Given the description of an element on the screen output the (x, y) to click on. 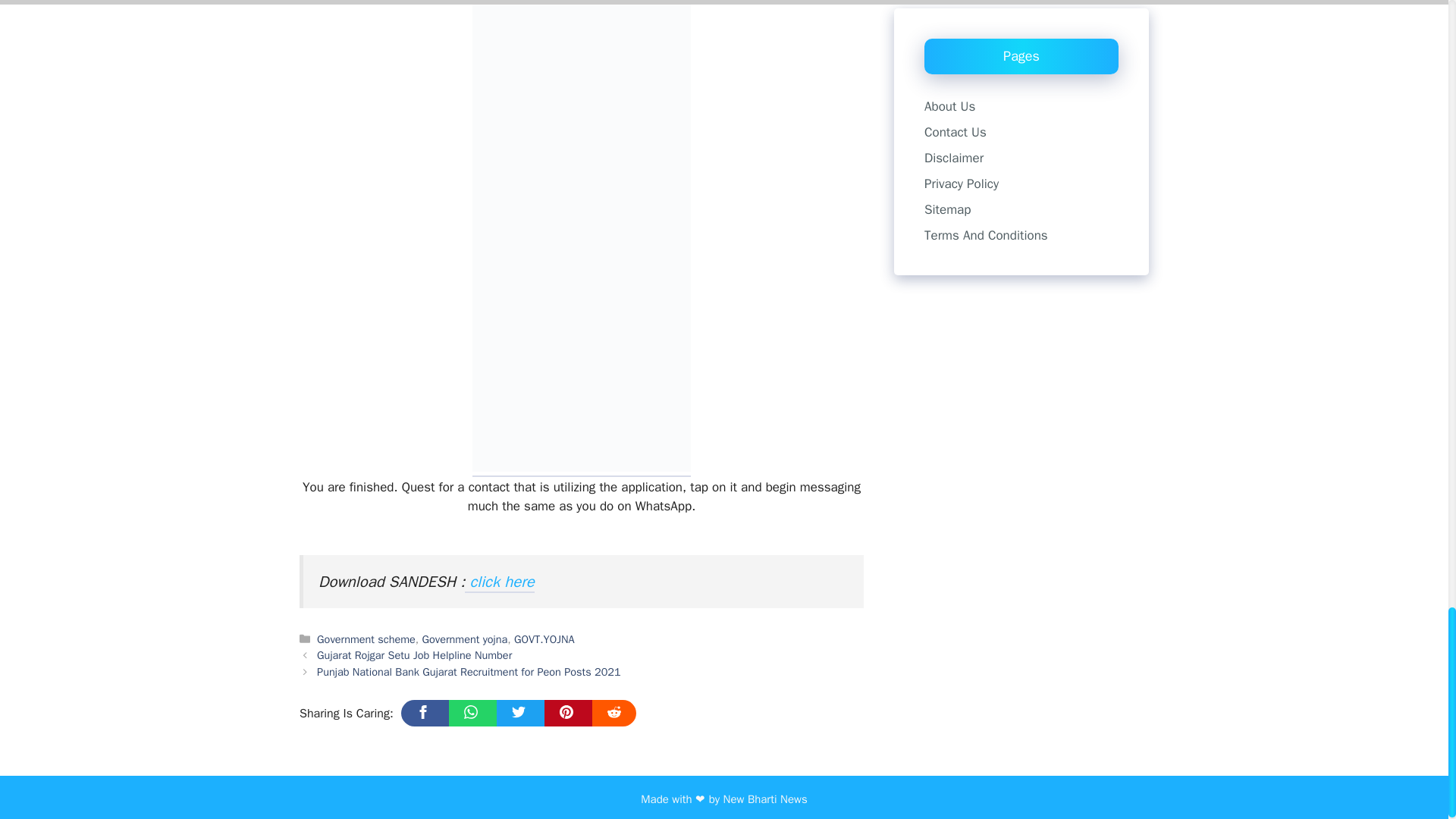
Government yojna (465, 639)
click here (499, 582)
Government scheme (365, 639)
